Given the description of an element on the screen output the (x, y) to click on. 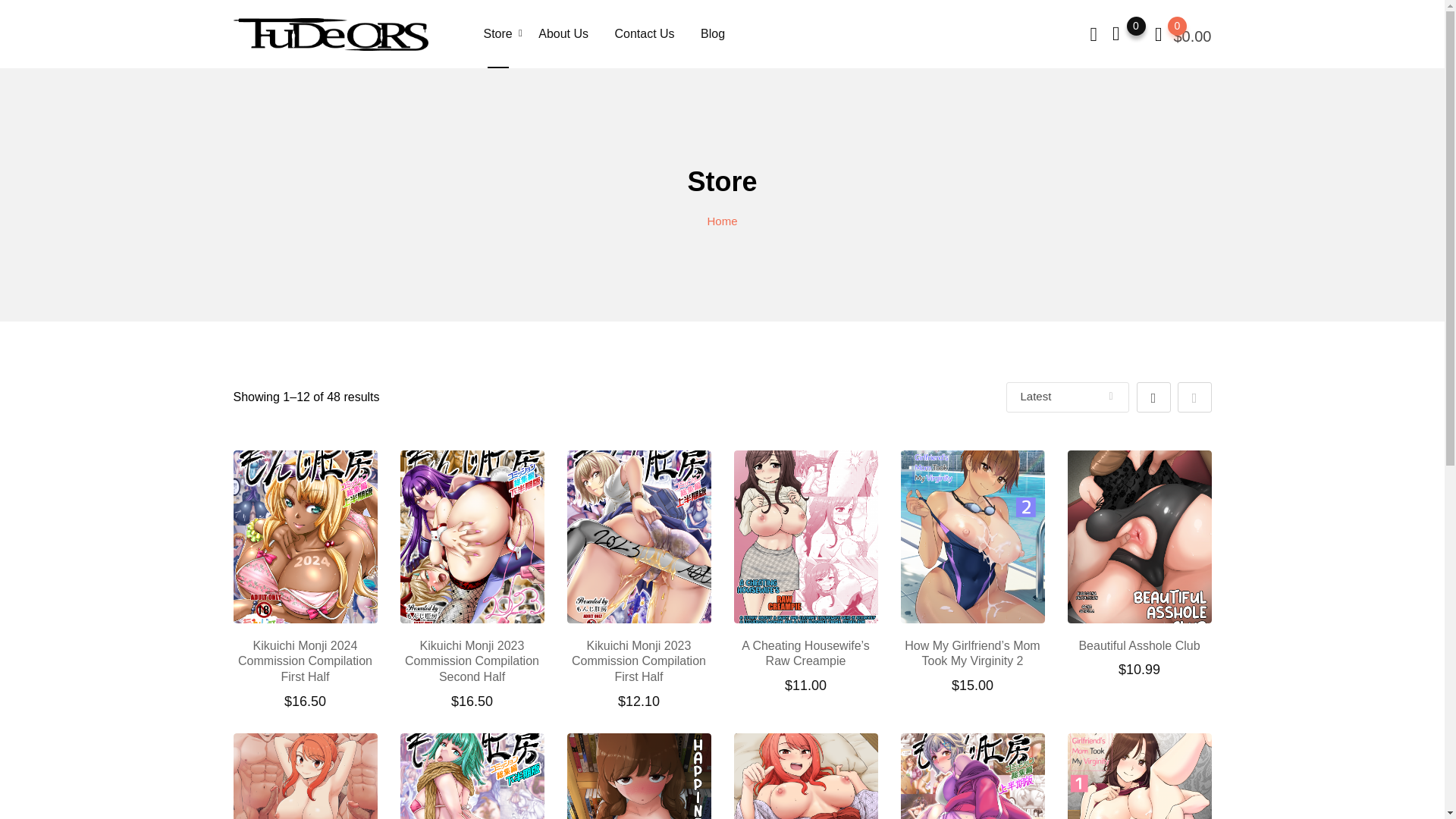
List View (1193, 397)
About Us (563, 33)
Grid View (1152, 397)
Contact Us (643, 33)
